Given the description of an element on the screen output the (x, y) to click on. 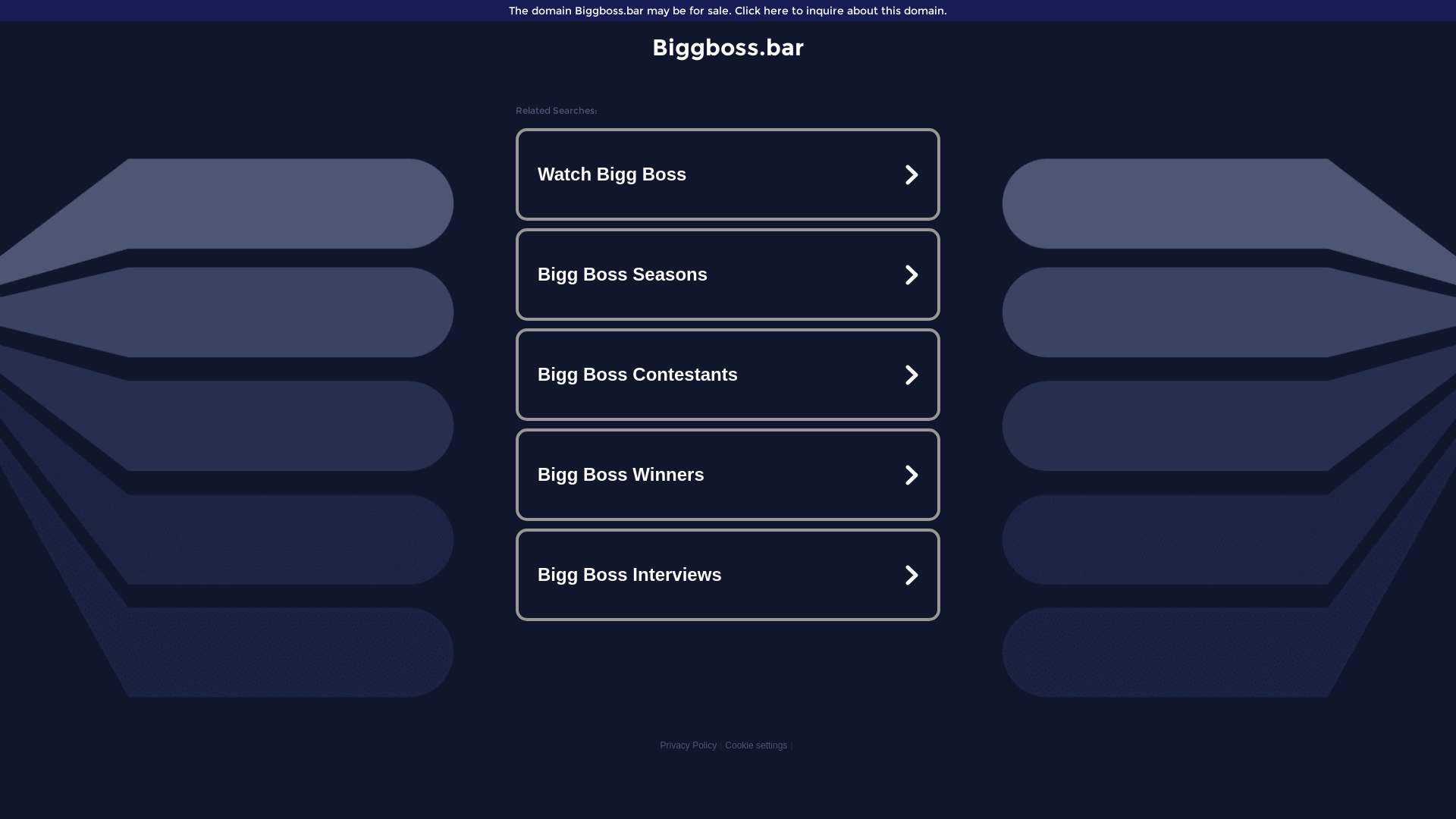
Watch Bigg Boss Element type: text (727, 174)
Biggboss.bar Element type: text (727, 47)
Privacy Policy Element type: text (687, 745)
Bigg Boss Winners Element type: text (727, 474)
Bigg Boss Seasons Element type: text (727, 274)
Cookie settings Element type: text (755, 745)
Bigg Boss Interviews Element type: text (727, 574)
Bigg Boss Contestants Element type: text (727, 374)
